Given the description of an element on the screen output the (x, y) to click on. 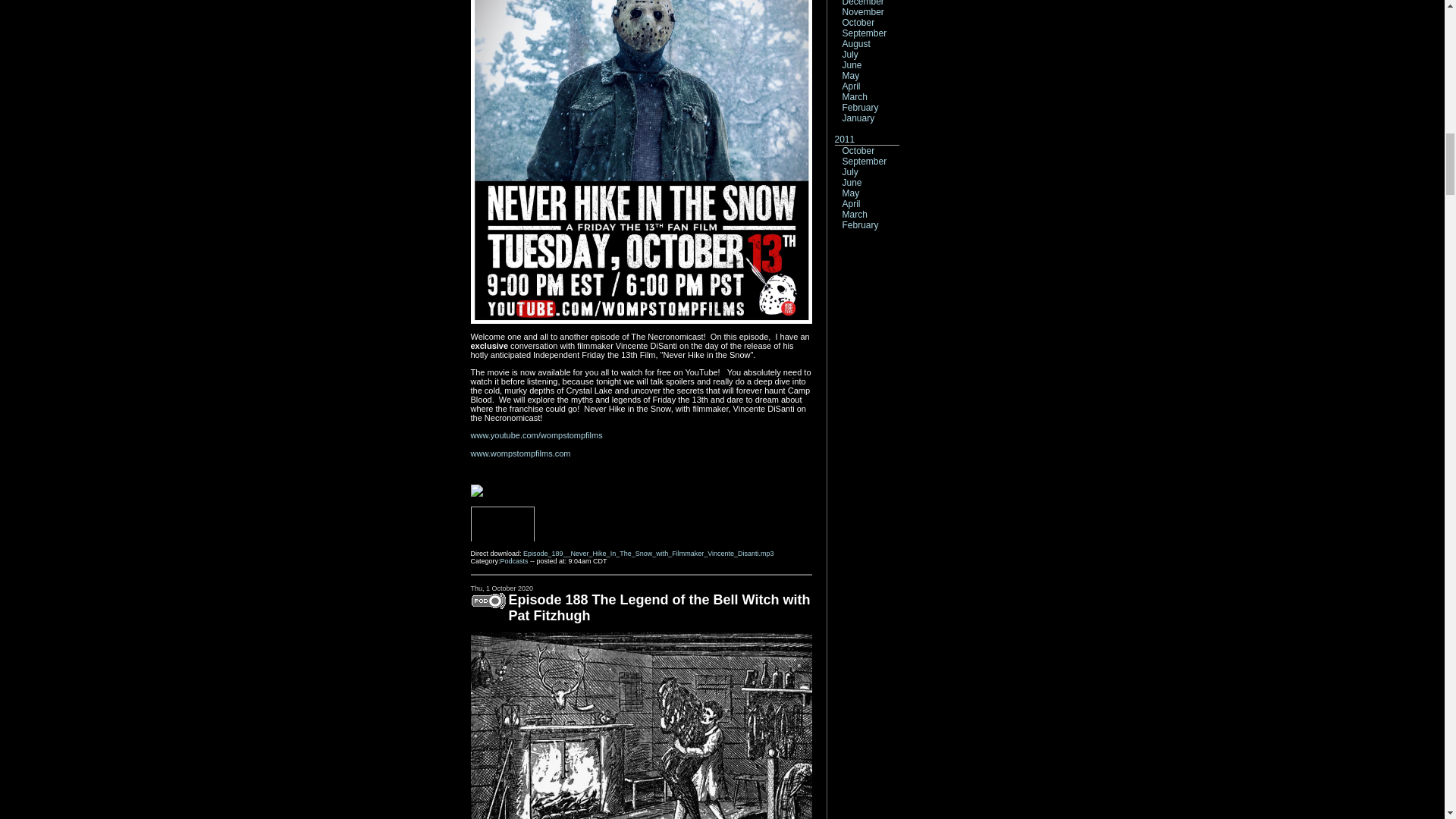
Podcasts (514, 561)
Episode 188 The Legend of the Bell Witch with Pat Fitzhugh (658, 607)
www.wompstompfilms.com (520, 452)
